Given the description of an element on the screen output the (x, y) to click on. 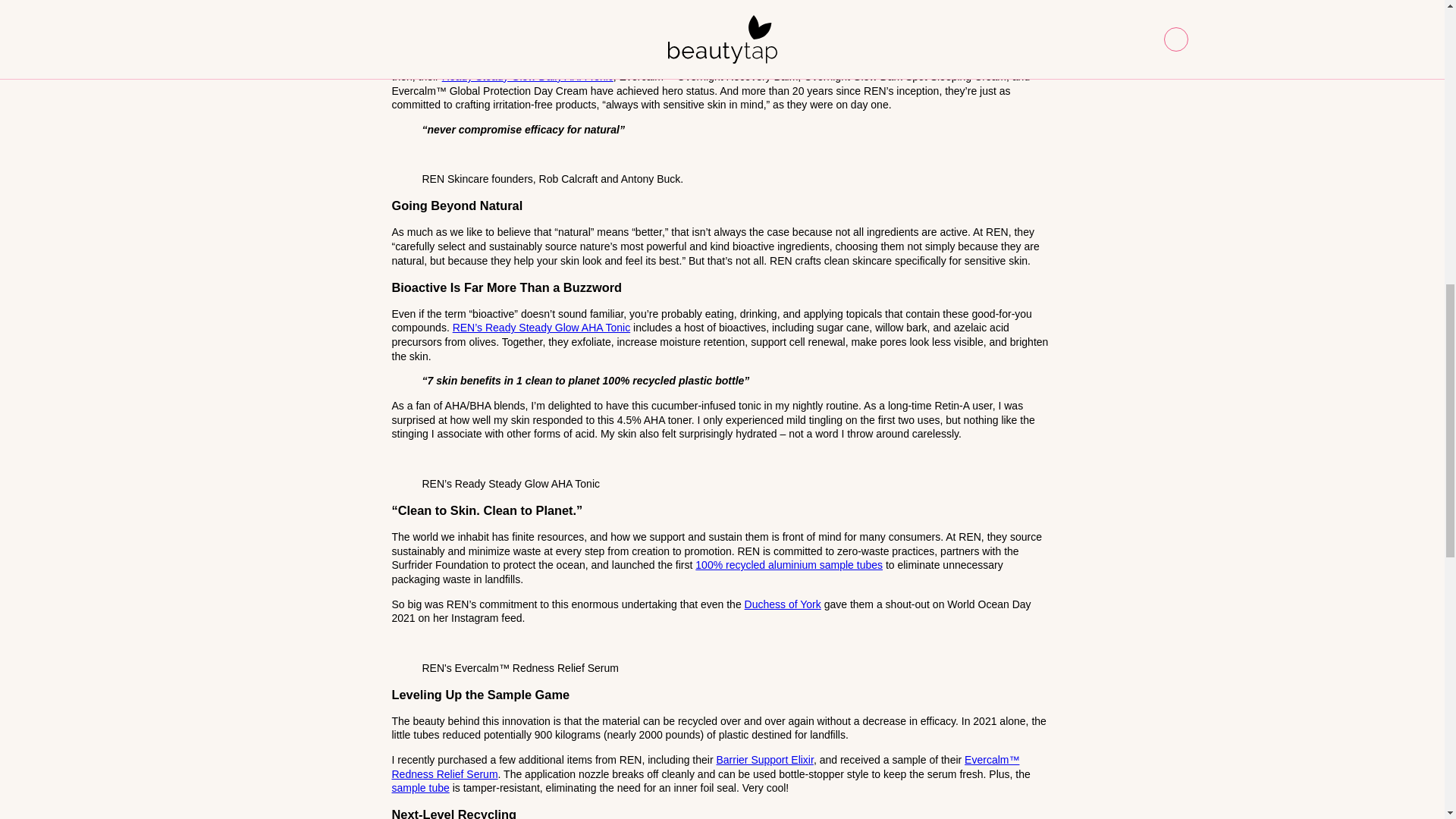
Ready Steady Glow Daily AHA Tonic (527, 76)
Barrier Support Elixir (764, 759)
sample tube (419, 787)
REN Clean Skincare (712, 16)
Duchess of York (782, 604)
